Given the description of an element on the screen output the (x, y) to click on. 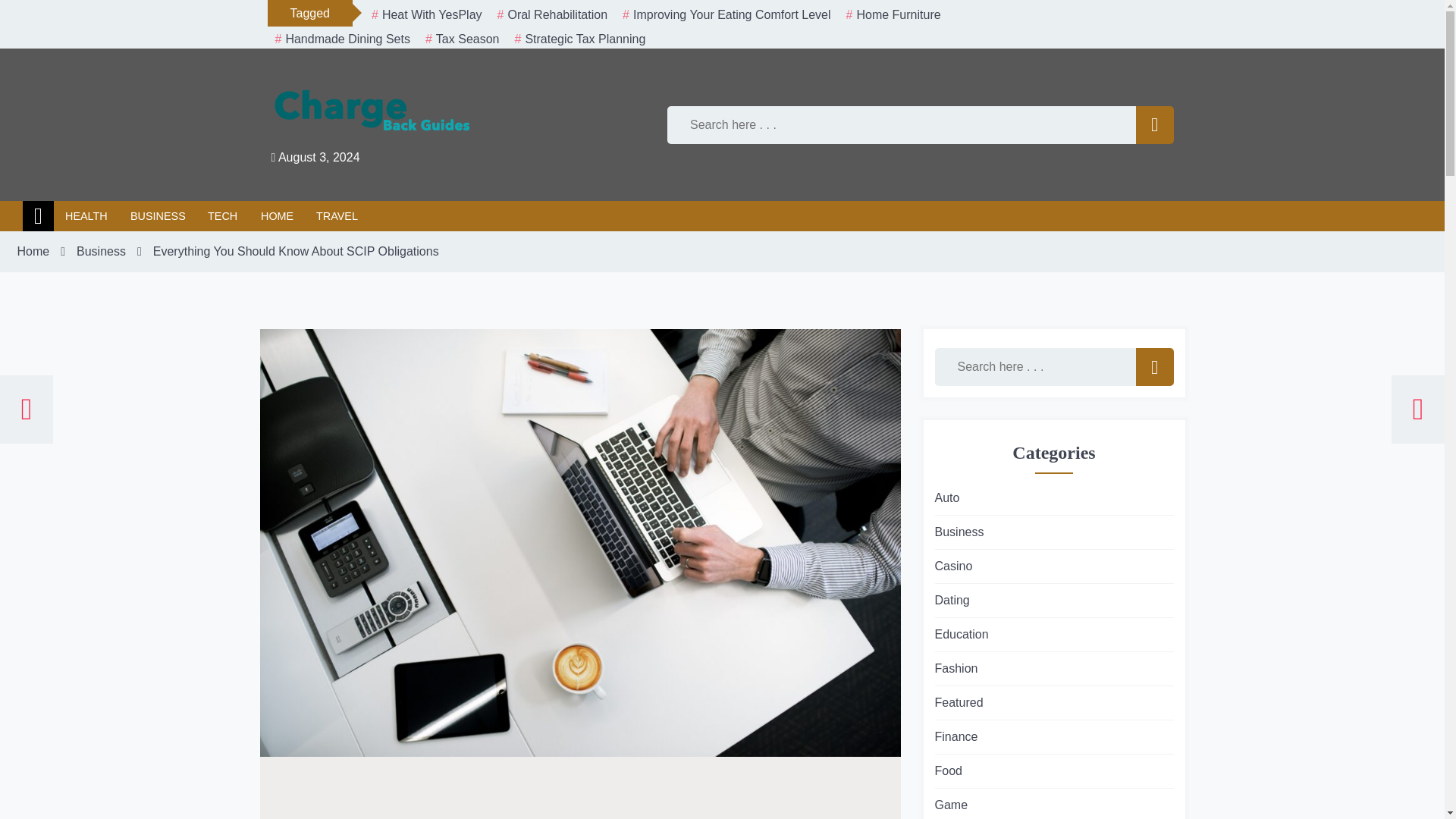
Strategic Tax Planning (579, 39)
Everything You Should Know About SCIP Obligations (295, 251)
Handmade Dining Sets (341, 39)
Casino (953, 566)
Dating (951, 600)
Auto (946, 497)
BUSINESS (157, 215)
Featured (958, 702)
Fashion (955, 669)
Tax Season (461, 39)
Business (101, 251)
HEALTH (86, 215)
HOME (276, 215)
Heat With YesPlay (426, 14)
Home (38, 215)
